Given the description of an element on the screen output the (x, y) to click on. 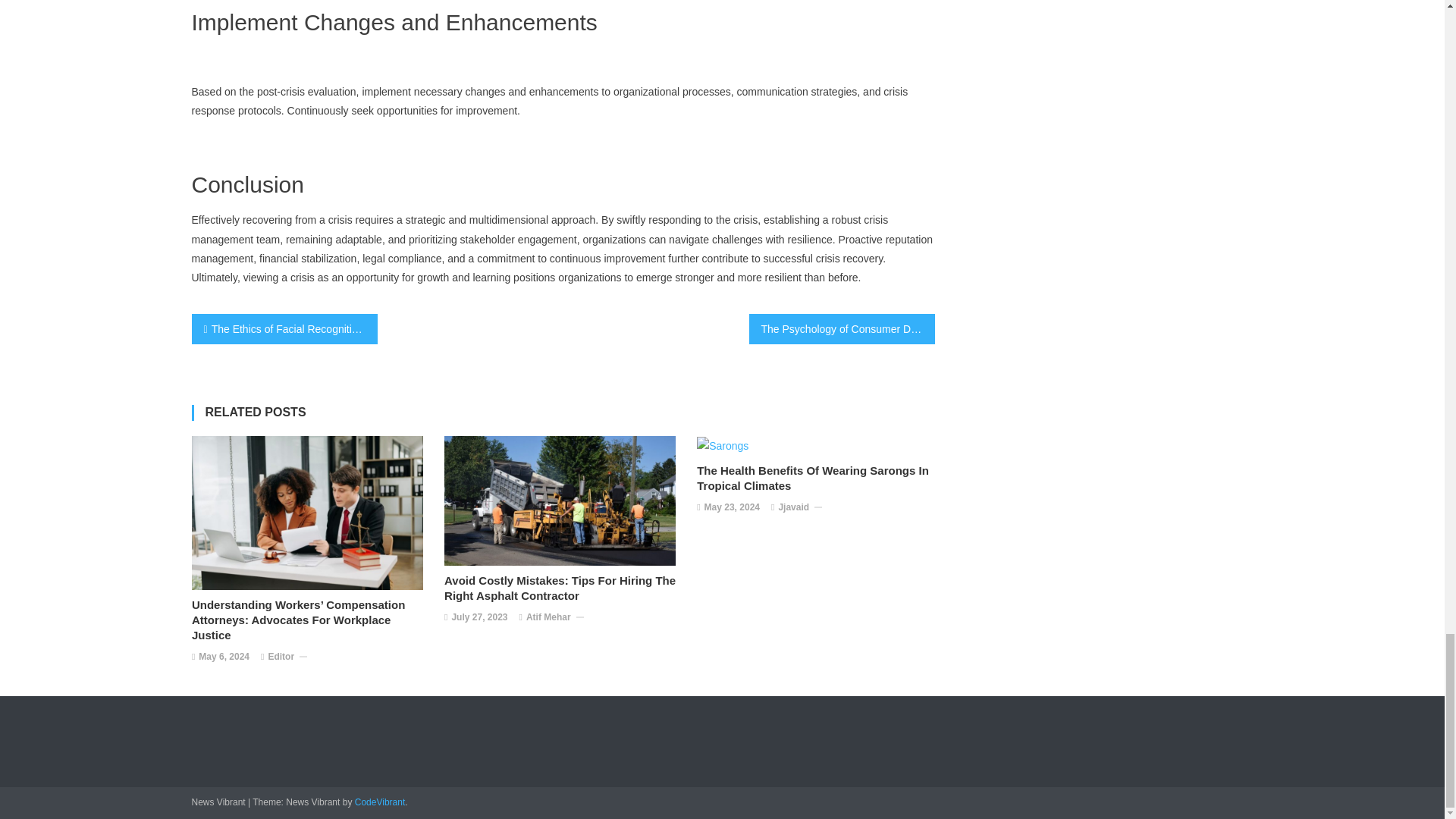
July 27, 2023 (478, 617)
Editor (280, 657)
Atif Mehar (547, 617)
May 23, 2024 (732, 507)
The Psychology of Consumer Decision-Making (841, 328)
The Ethics of Facial Recognition Technology (283, 328)
The Health Benefits Of Wearing Sarongs In Tropical Climates (815, 478)
May 6, 2024 (223, 657)
Jjavaid (793, 507)
